Given the description of an element on the screen output the (x, y) to click on. 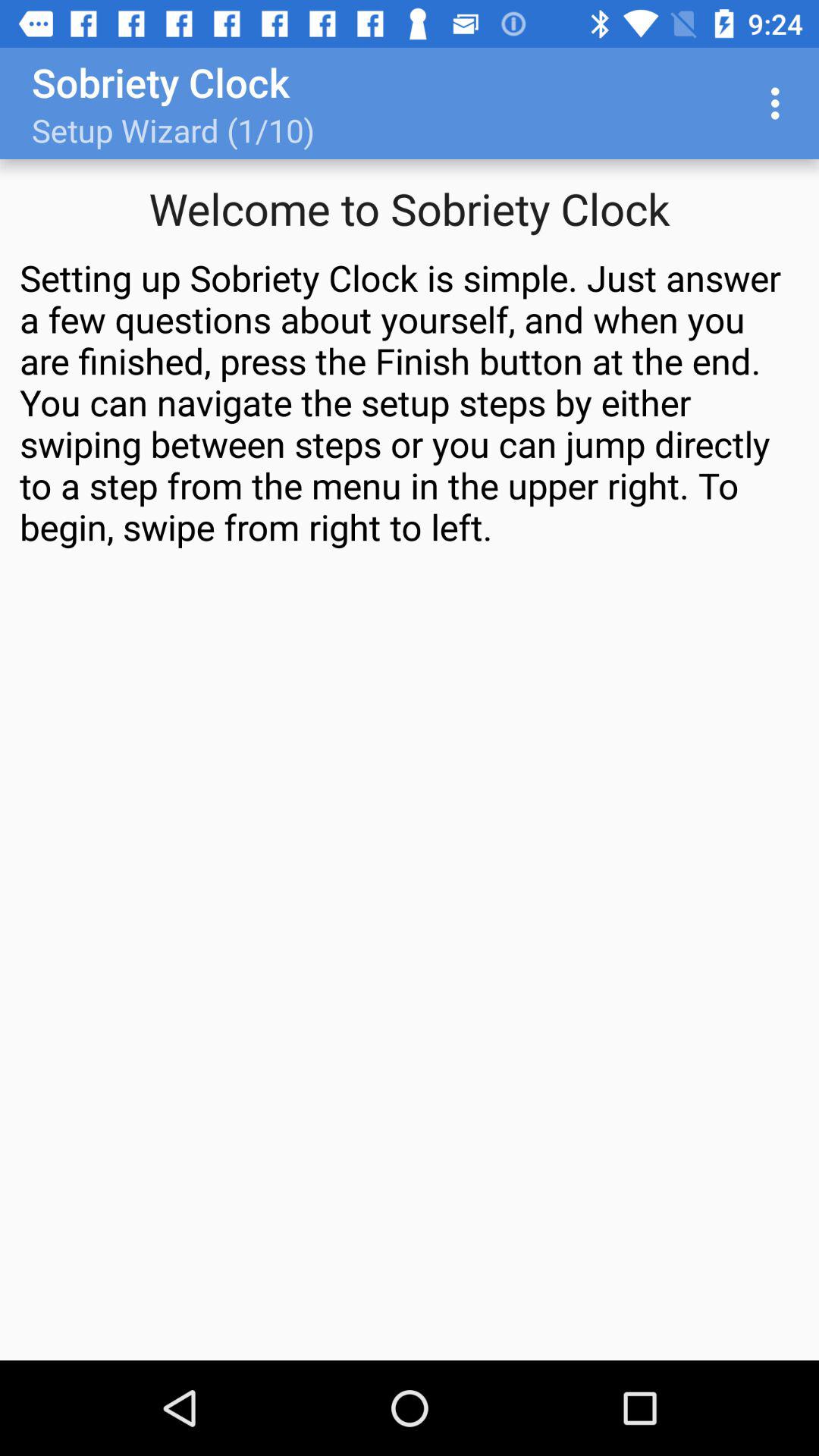
open item next to the setup wizard 1 icon (779, 103)
